Given the description of an element on the screen output the (x, y) to click on. 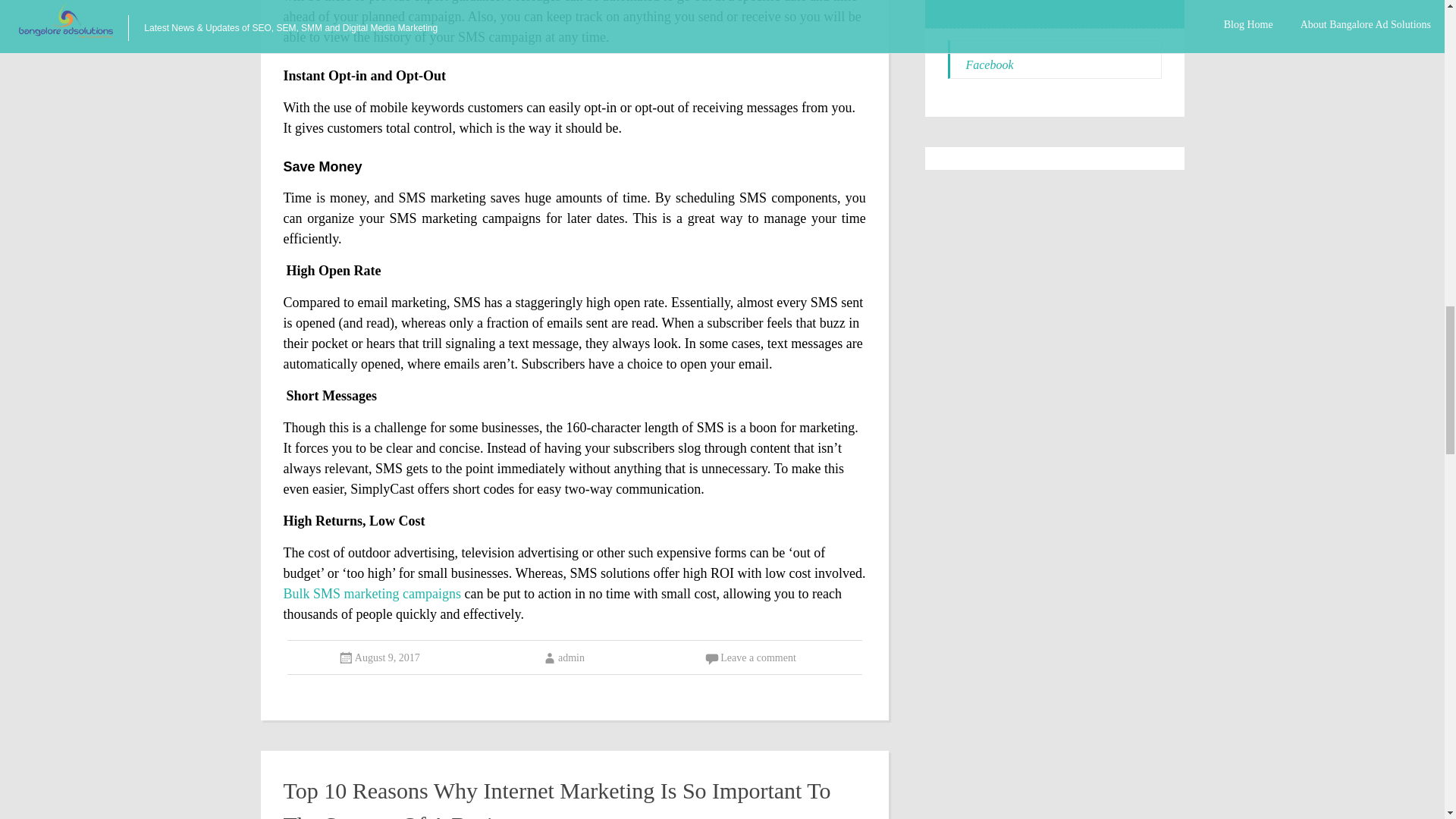
Leave a comment (758, 657)
August 9, 2017 (387, 657)
admin (563, 657)
Bulk SMS marketing campaigns (372, 593)
